Given the description of an element on the screen output the (x, y) to click on. 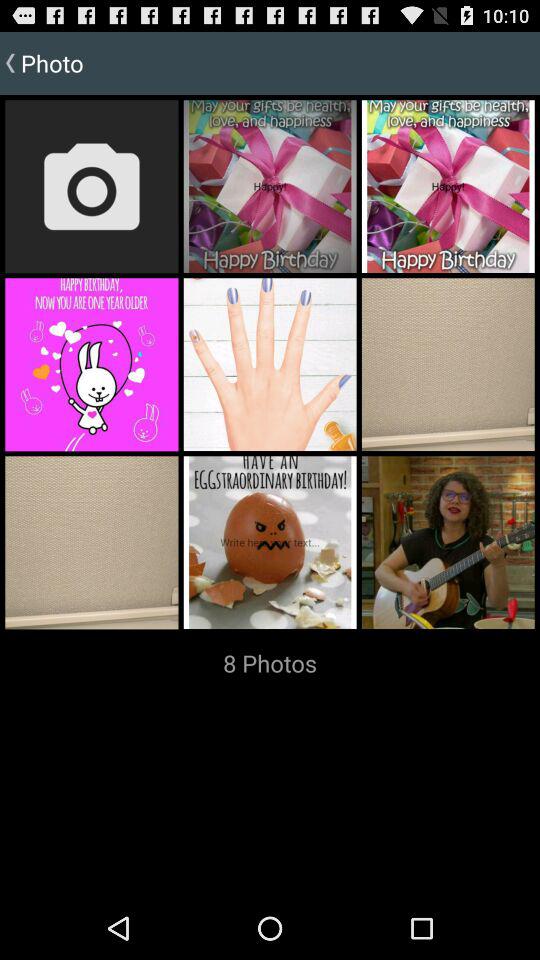
press the icon at the bottom (269, 663)
